Given the description of an element on the screen output the (x, y) to click on. 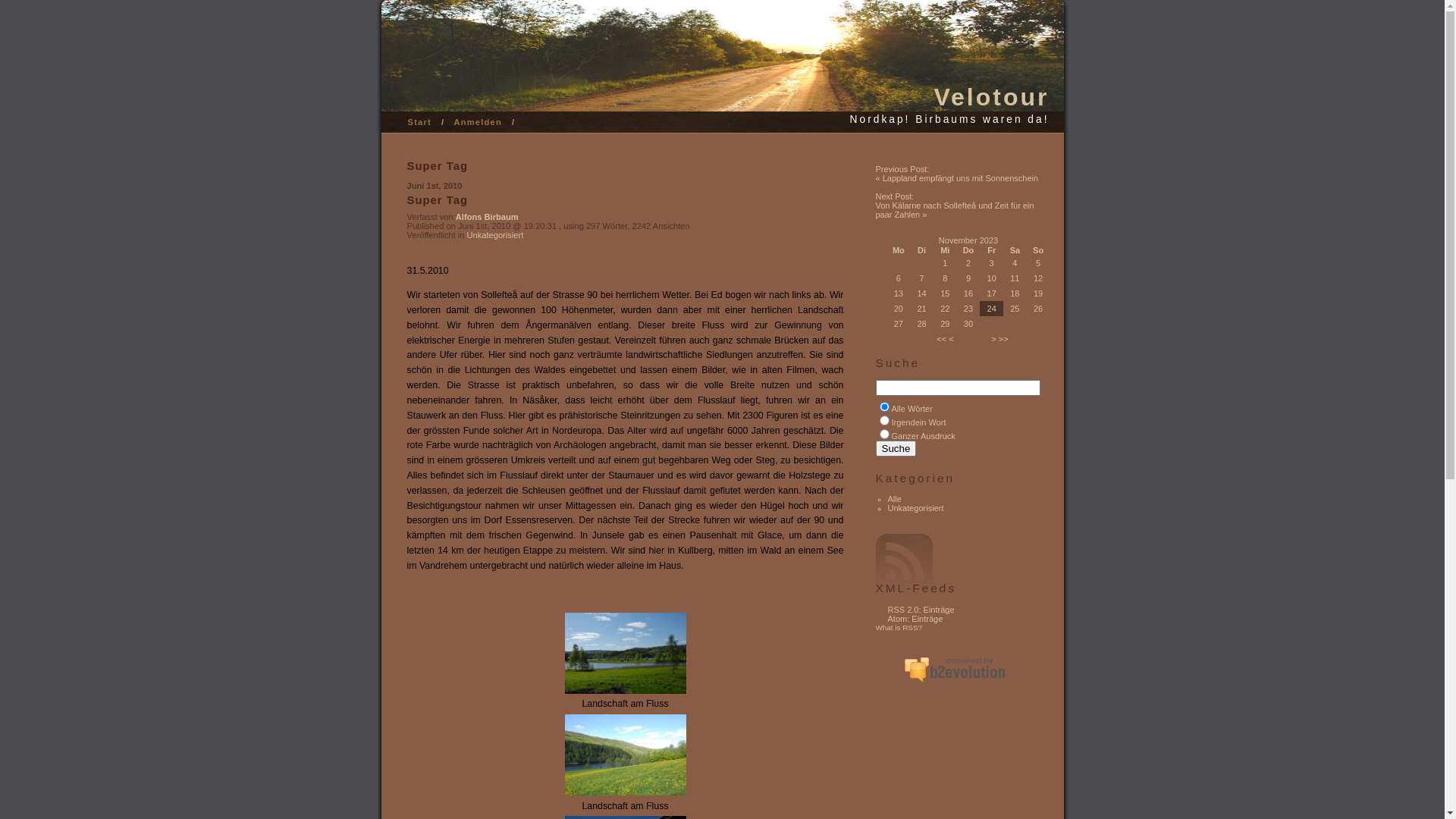
November 2023 Element type: text (967, 239)
> Element type: text (993, 338)
Unkategorisiert Element type: text (494, 234)
Unkategorisiert Element type: text (915, 507)
Start Element type: text (419, 121)
>> Element type: text (1003, 338)
Suche Element type: text (895, 448)
b2evolution: next generation blog software Element type: hover (954, 667)
Velotour Element type: text (990, 96)
b2evolution: next generation blog software Element type: hover (954, 669)
Alle Element type: text (893, 498)
< Element type: text (950, 338)
What is RSS? Element type: text (898, 627)
Alfons Birbaum Element type: text (486, 216)
Super Tag Element type: text (436, 200)
<< Element type: text (941, 338)
Anmelden Element type: text (477, 121)
